Given the description of an element on the screen output the (x, y) to click on. 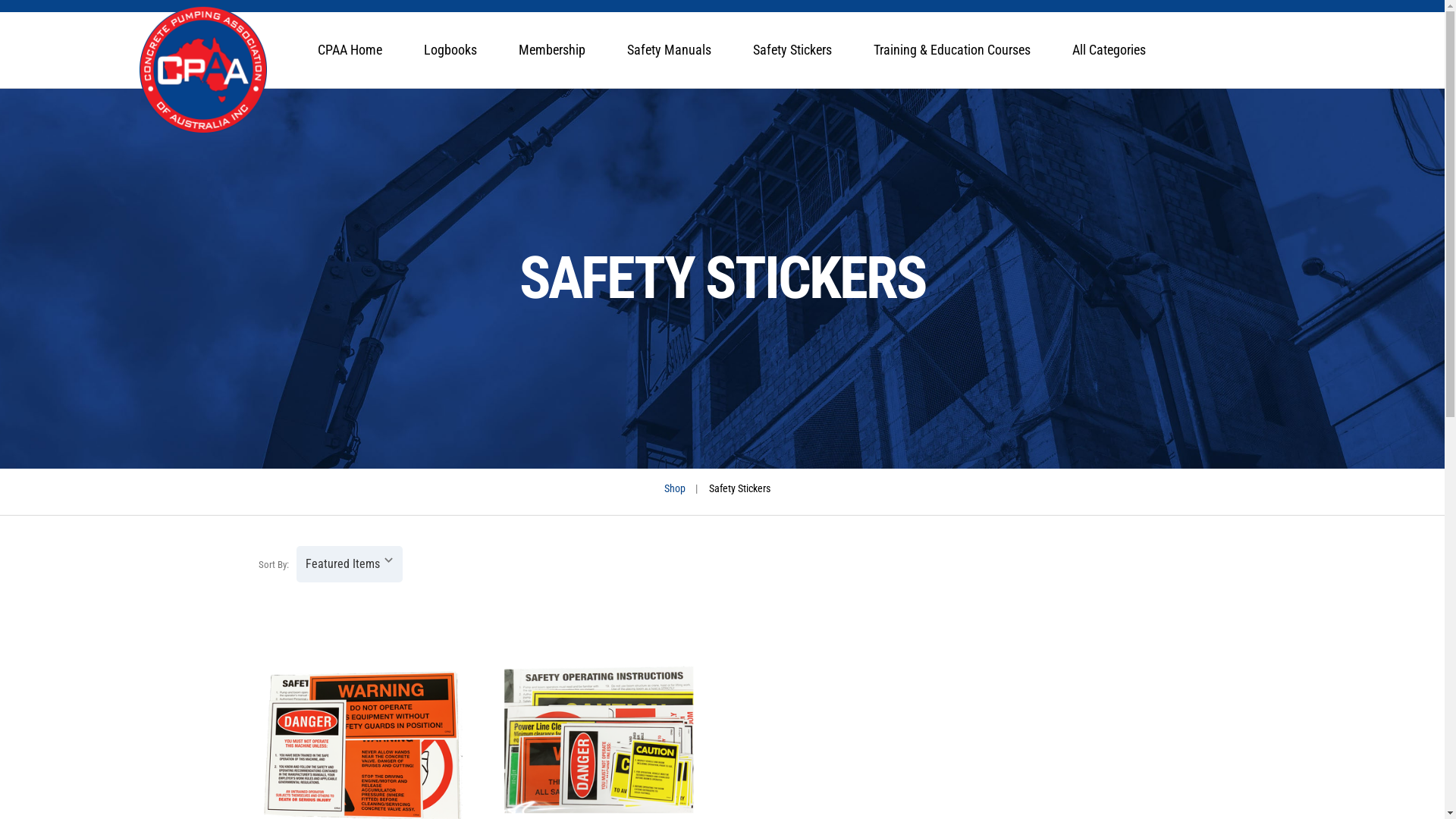
Safety Manuals Element type: text (668, 49)
CPAA Home Element type: text (349, 49)
Shop Element type: text (674, 488)
All Categories Element type: text (1112, 49)
Safety Stickers Element type: text (739, 488)
Safety Stickers Element type: text (791, 49)
Concrete Pumping Association of Australia Element type: hover (202, 69)
Membership Element type: text (552, 49)
Logbooks Element type: text (449, 49)
Training & Education Courses Element type: text (952, 49)
